Given the description of an element on the screen output the (x, y) to click on. 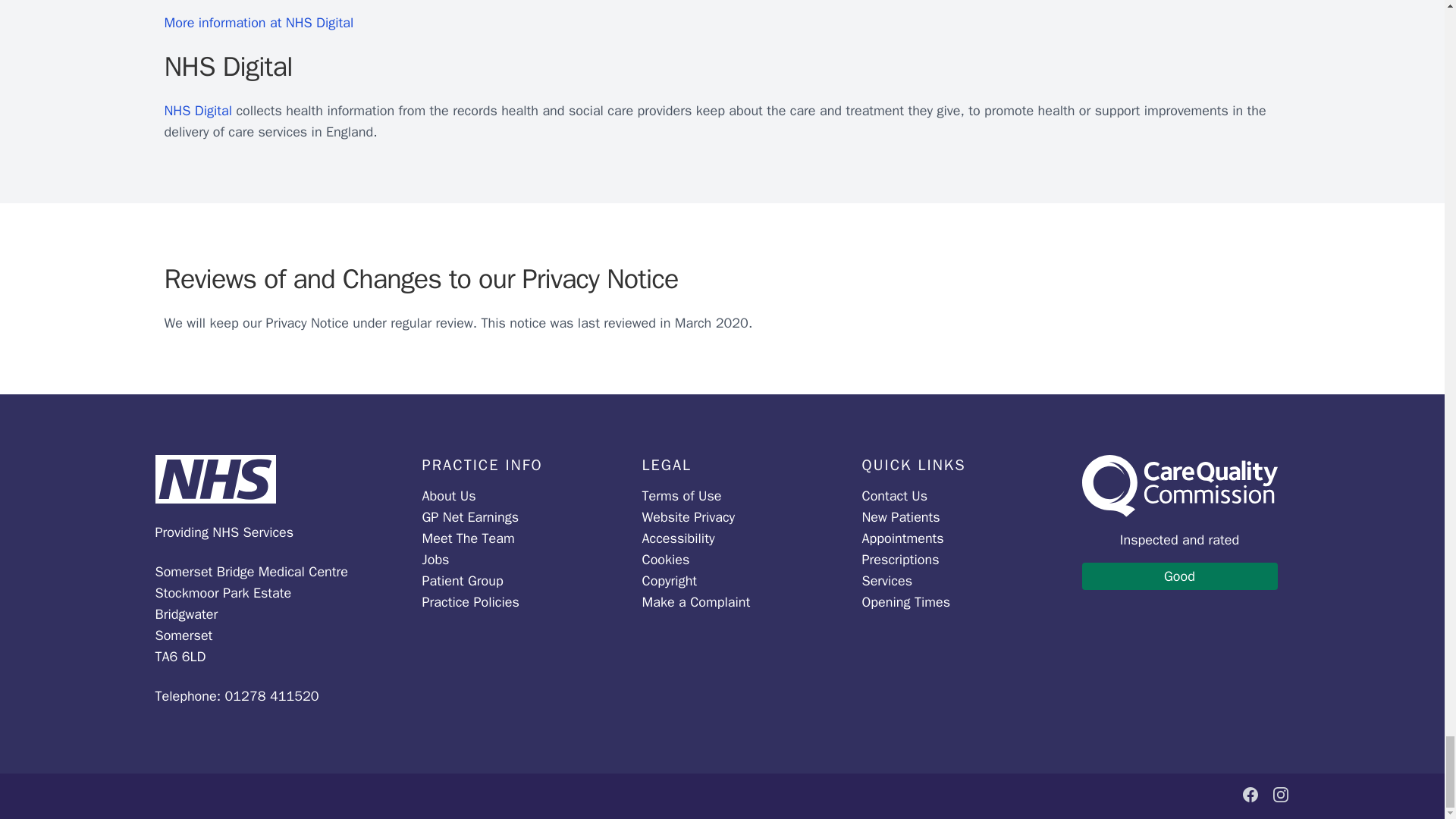
01278 411520 (271, 695)
Copyright (669, 580)
Patient Group (462, 580)
Services (886, 580)
Accessibility (678, 538)
GP Net Earnings (470, 516)
Jobs (435, 559)
Facebook (1249, 794)
NHS Digital (199, 110)
Opening Times (905, 601)
